Given the description of an element on the screen output the (x, y) to click on. 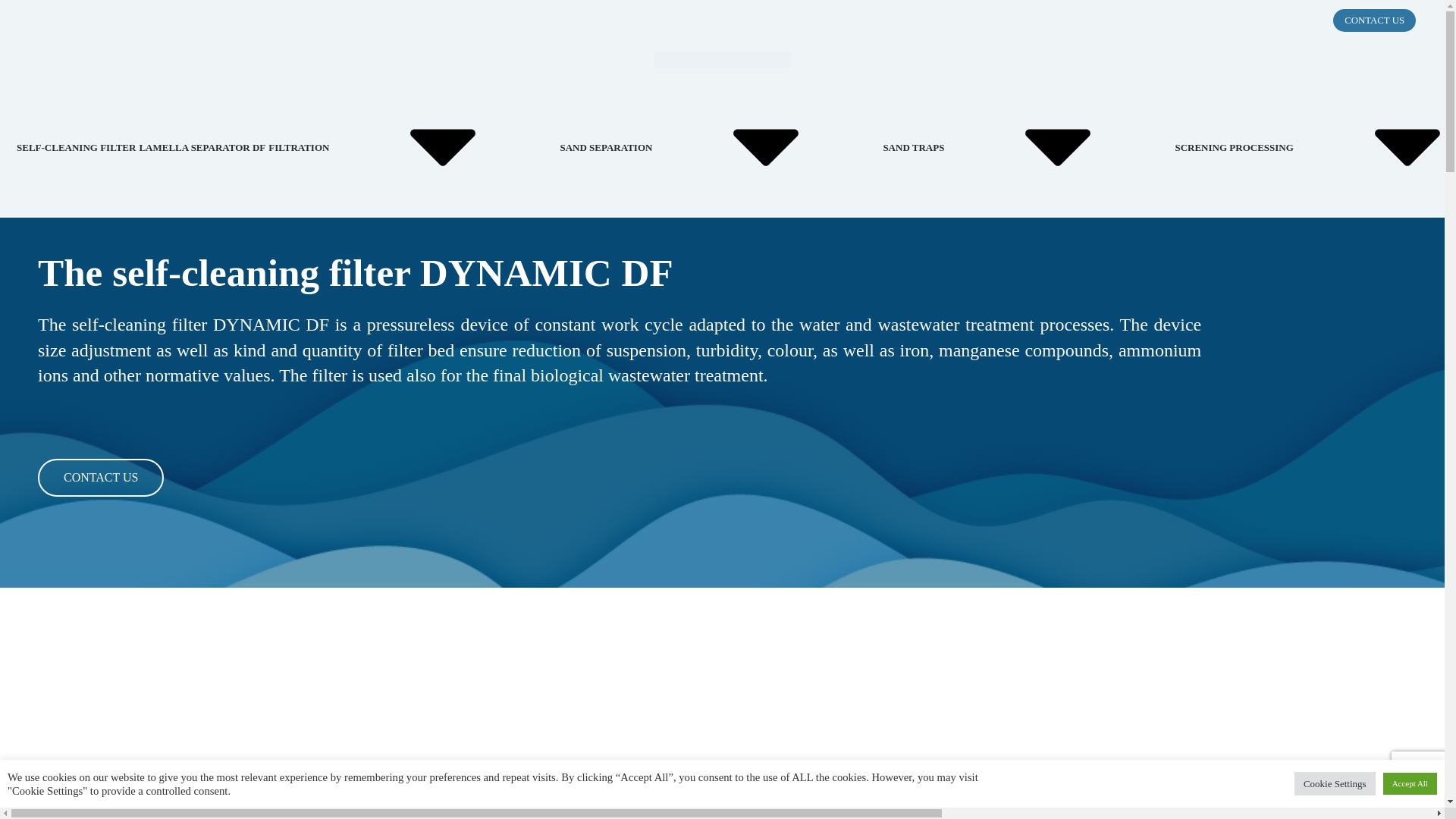
CONTACT US (1374, 20)
SELF-CLEANING FILTER (75, 147)
SAND SEPARATION (718, 147)
FILTRATION (411, 147)
SAND TRAPS (1026, 147)
LAMELLA SEPARATOR DF (201, 147)
reCAPTCHA (1423, 773)
SCRENING PROCESSING (1314, 147)
